Given the description of an element on the screen output the (x, y) to click on. 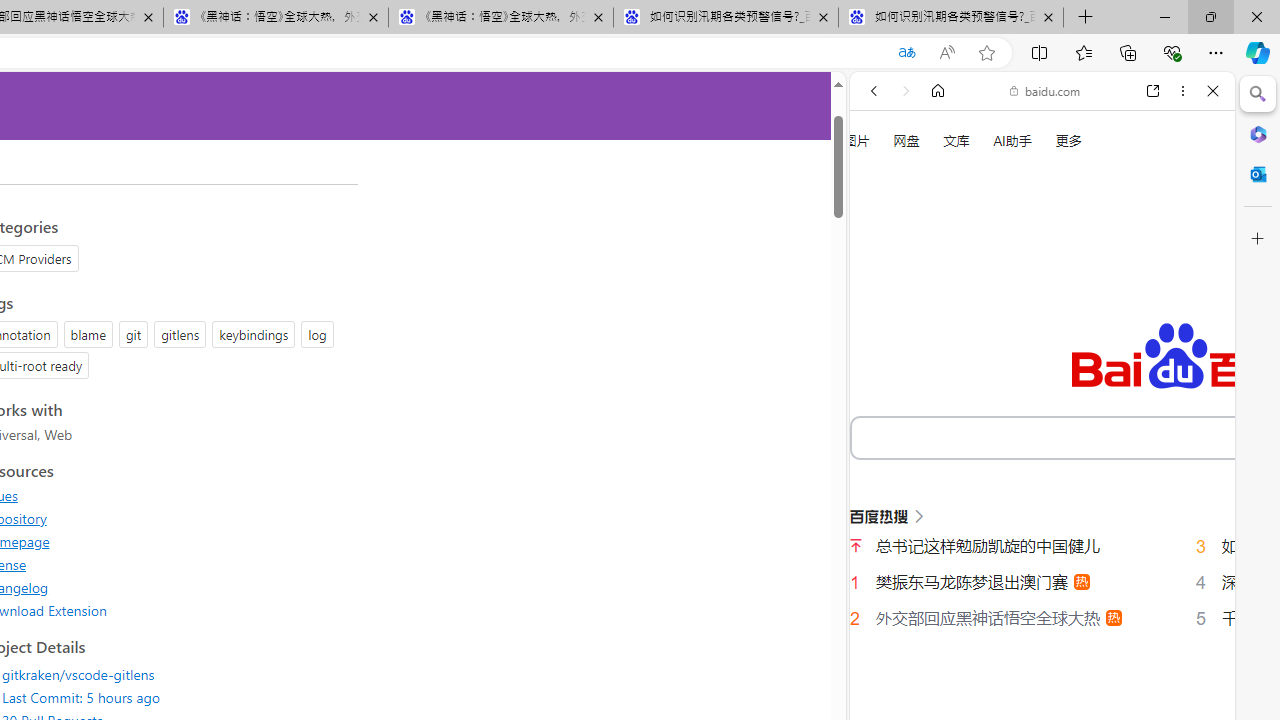
IMAGES (939, 339)
Home (938, 91)
Search Filter, IMAGES (939, 339)
More options (1182, 91)
This site scope (936, 180)
Learn more (943, 272)
To get missing image descriptions, open the context menu. (882, 228)
